Given the description of an element on the screen output the (x, y) to click on. 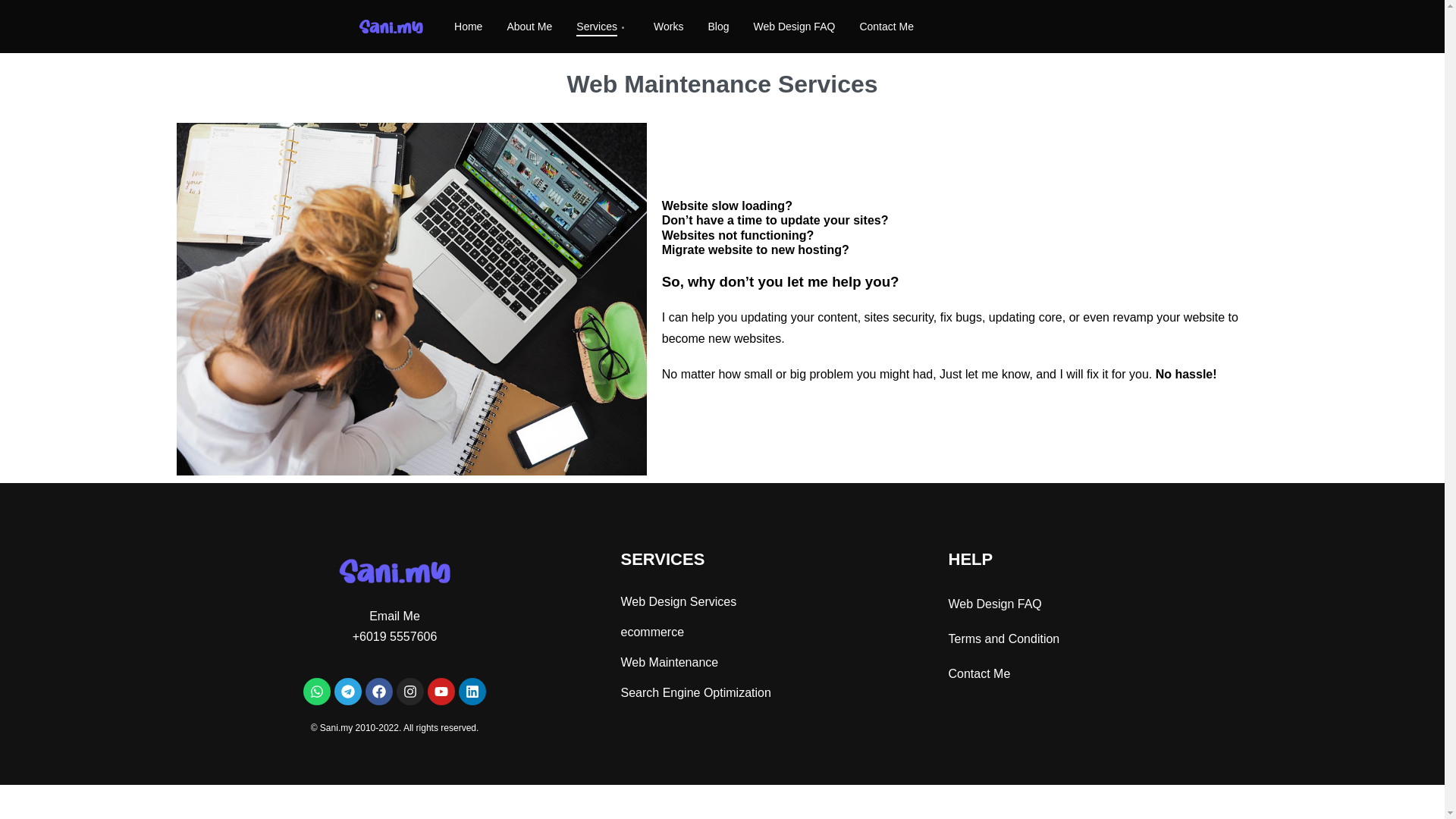
Home (467, 27)
Web Design Services (776, 602)
ecommerce (776, 632)
Web Maintenance (776, 662)
Search Engine Optimization (776, 693)
Works (667, 27)
About Me (528, 27)
Services (602, 27)
Blog (718, 27)
Contact Me (886, 27)
Web Design FAQ (793, 27)
